Given the description of an element on the screen output the (x, y) to click on. 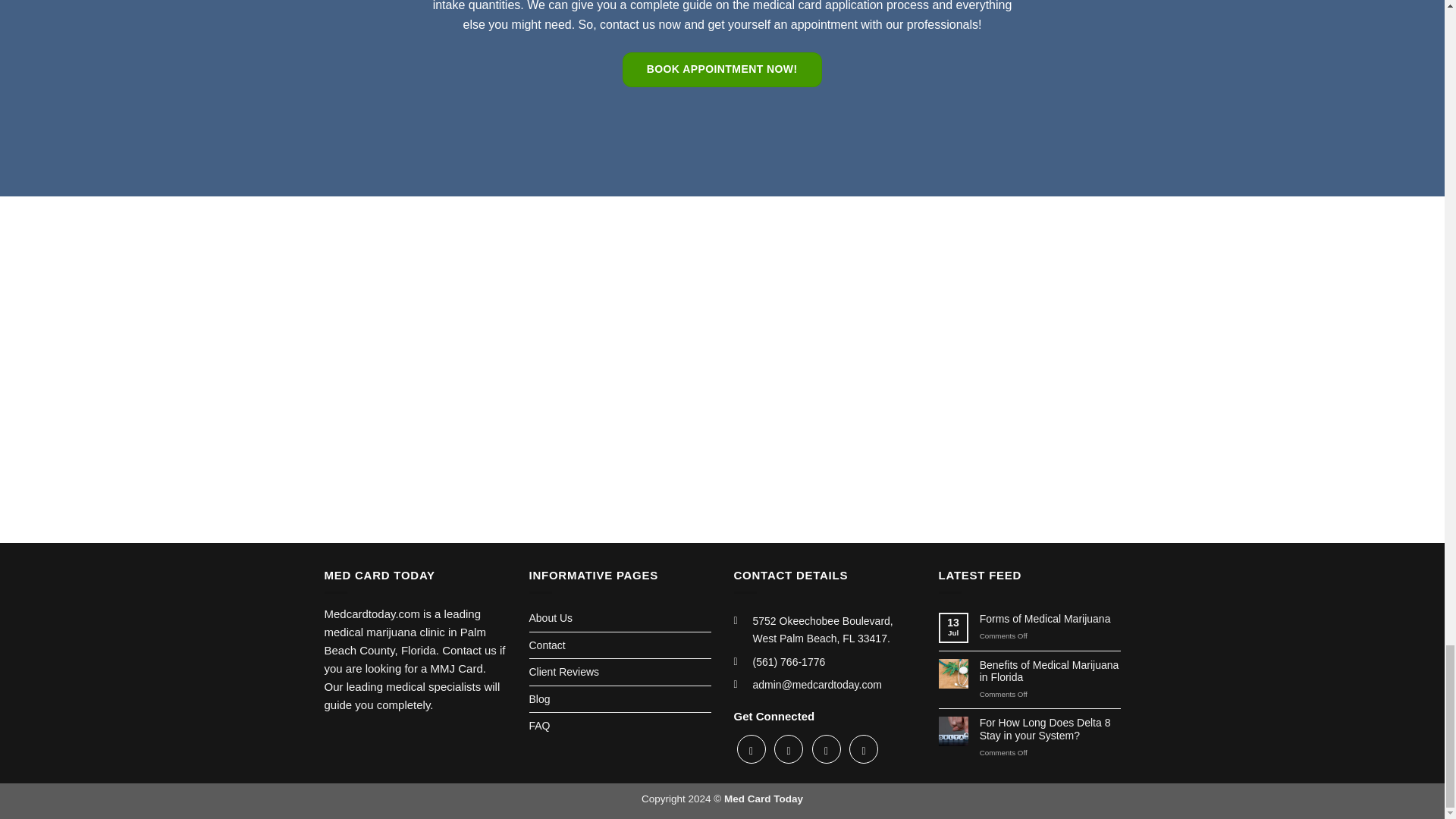
For How Long Does Delta 8 Stay in your System? (1050, 729)
Forms of Medical Marijuana (1050, 618)
FAQ (620, 725)
Client Reviews (620, 671)
Contact (620, 645)
BOOK APPOINTMENT NOW! (722, 69)
About Us (620, 617)
Benefits of Medical Marijuana in Florida (1050, 671)
Blog (620, 698)
